Given the description of an element on the screen output the (x, y) to click on. 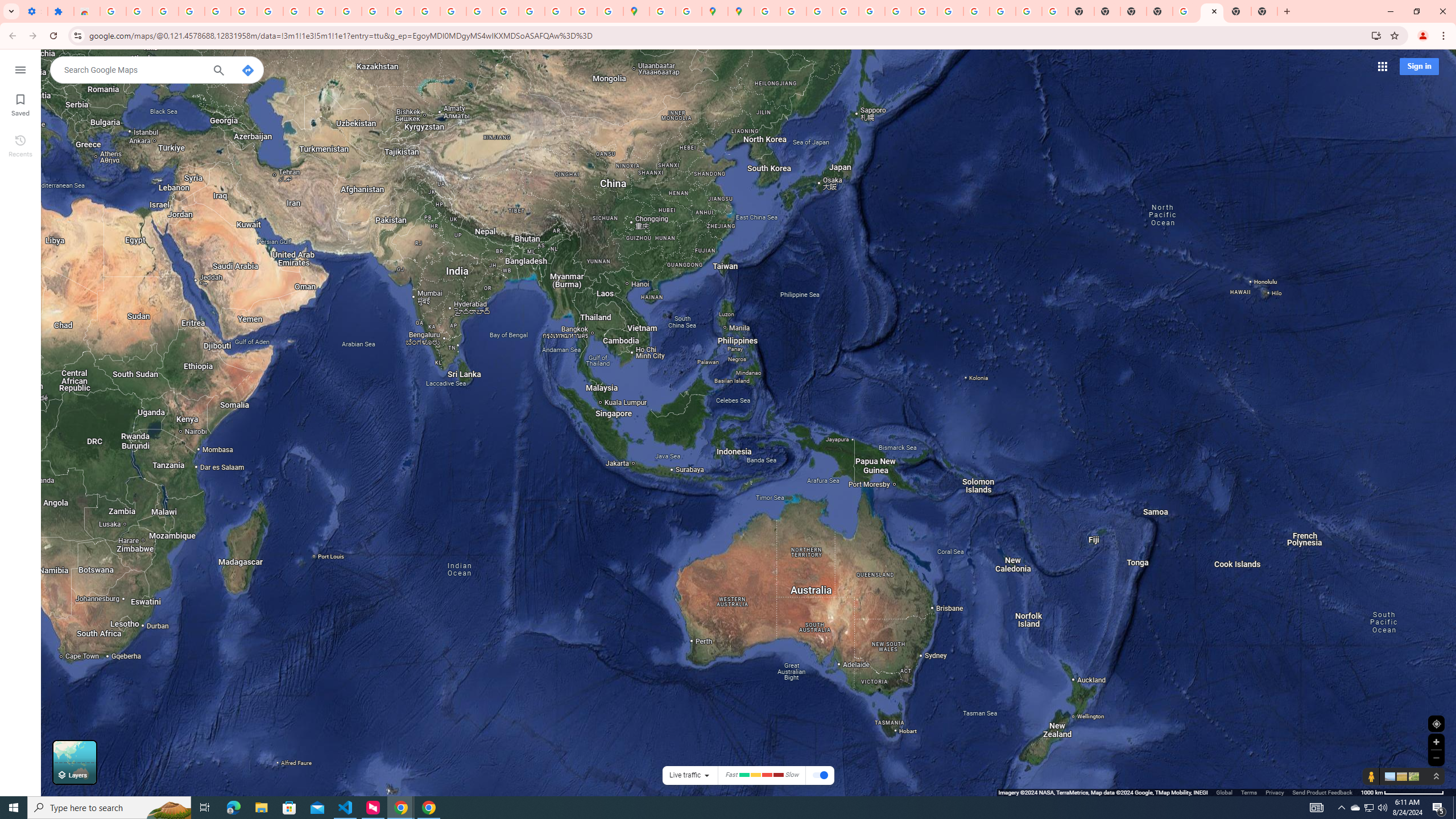
Reviews: Helix Fruit Jump Arcade Game (86, 11)
Google Account Help (269, 11)
Global (1224, 792)
Learn how to find your photos - Google Photos Help (165, 11)
Create your Google Account (689, 11)
New Tab (1264, 11)
Show Street View coverage (1371, 776)
